Given the description of an element on the screen output the (x, y) to click on. 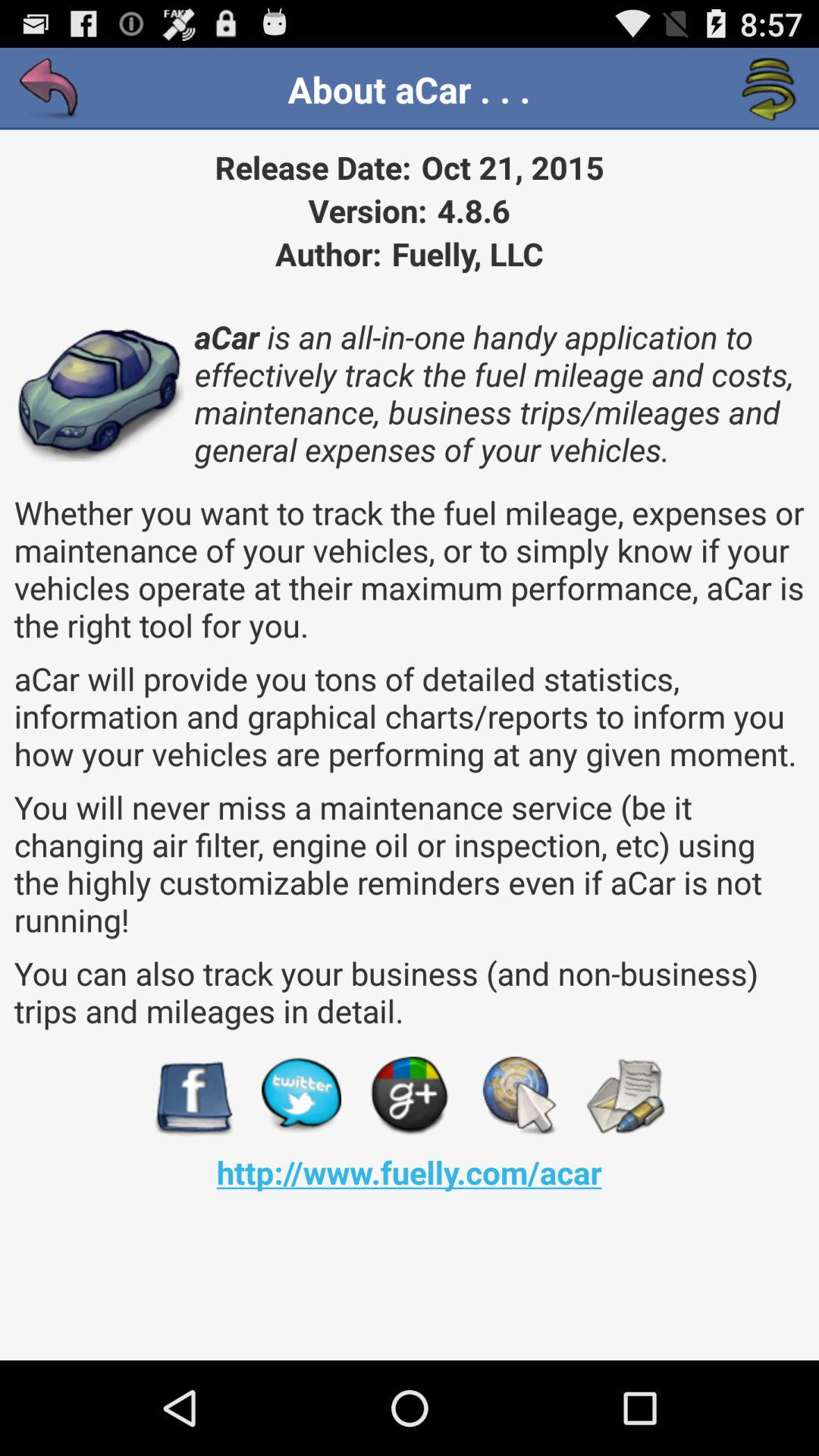
go to facebook (193, 1096)
